Given the description of an element on the screen output the (x, y) to click on. 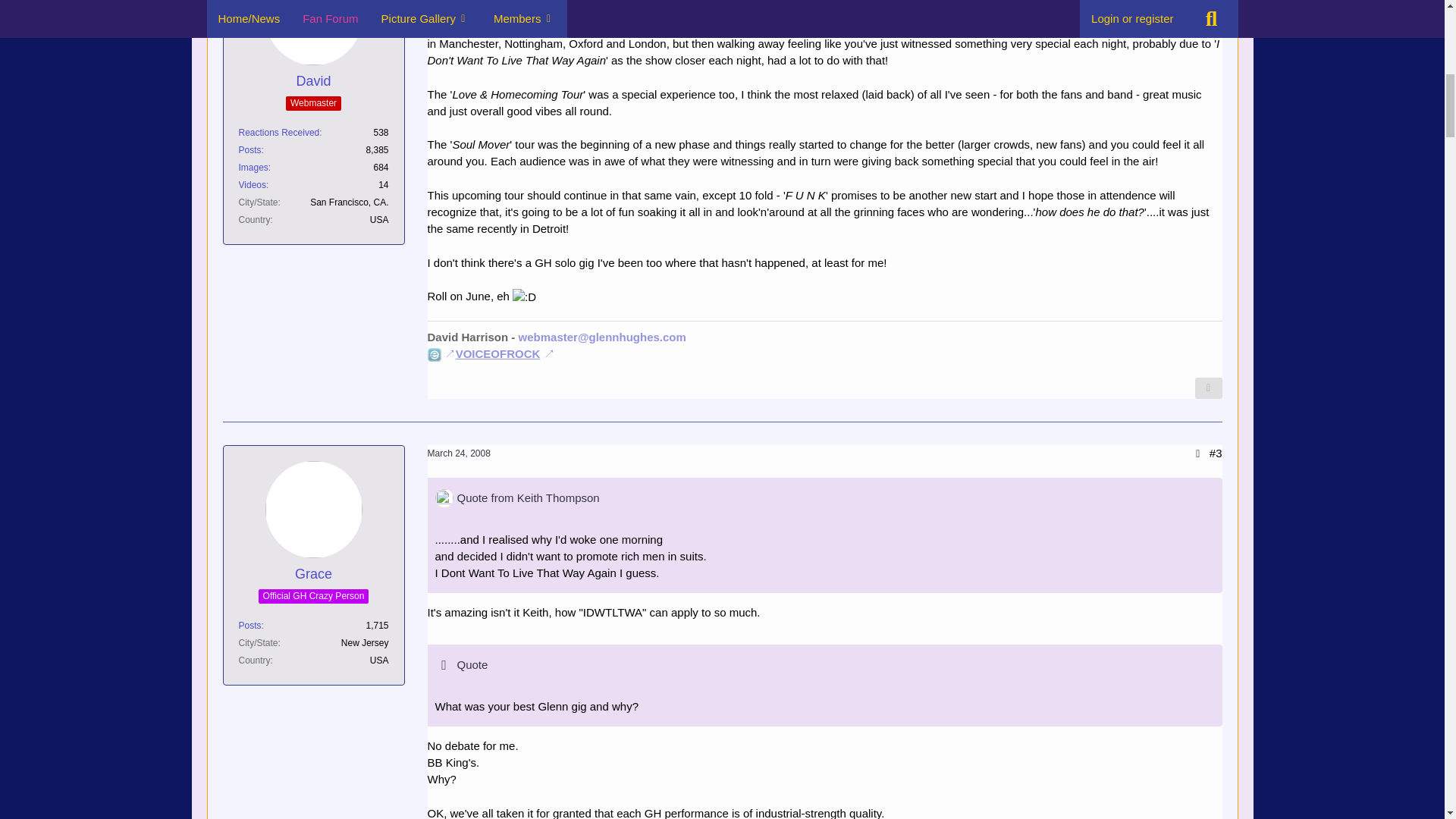
thumbup (546, 1)
Reactions Received (278, 132)
David (312, 81)
biggrin (523, 297)
